Given the description of an element on the screen output the (x, y) to click on. 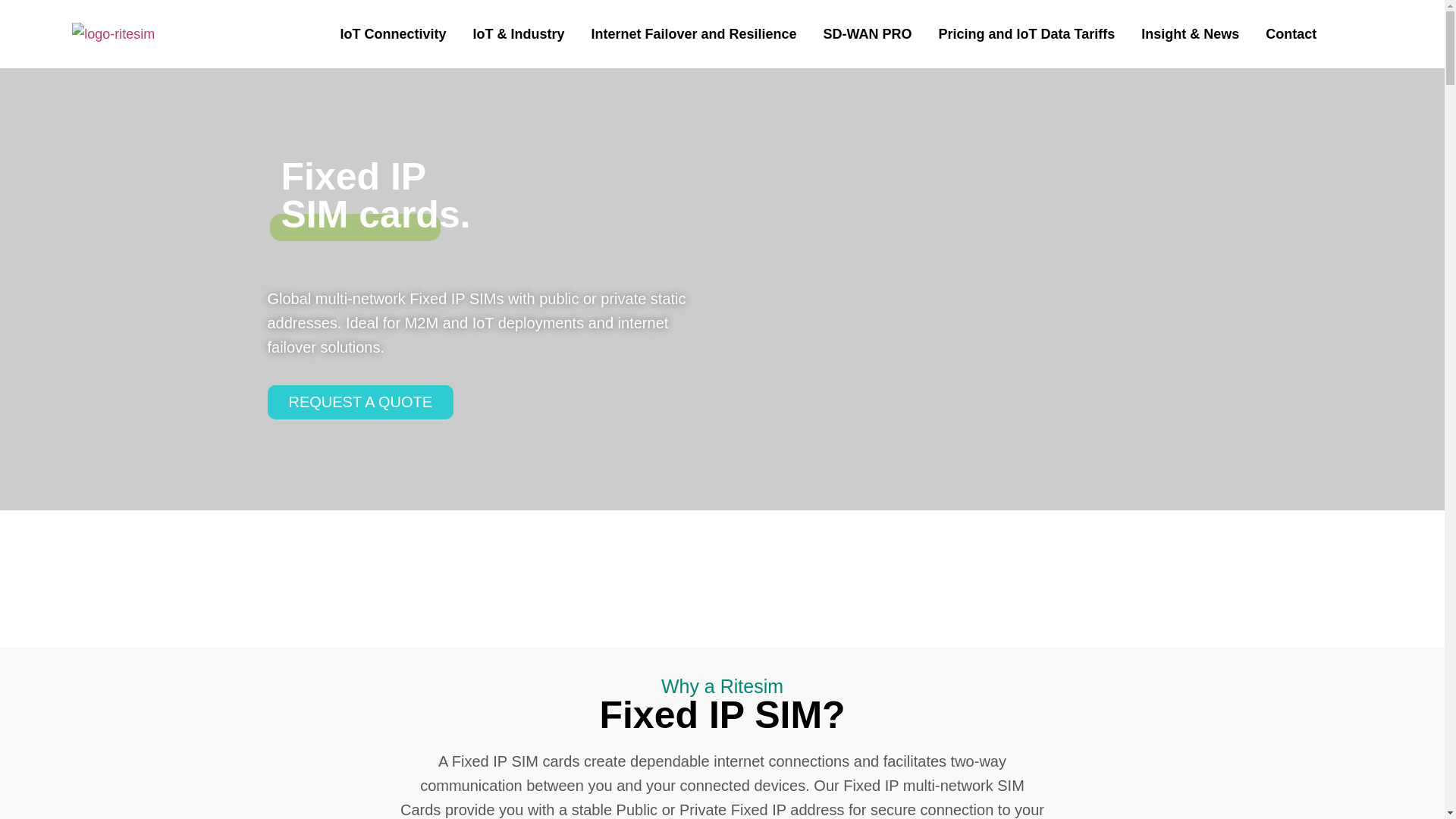
Pricing and IoT Data Tariffs (1026, 34)
SD-WAN PRO (867, 34)
logo-ritesim (112, 33)
IoT Connectivity (391, 34)
Contact (1290, 34)
Internet Failover and Resilience (693, 34)
